Given the description of an element on the screen output the (x, y) to click on. 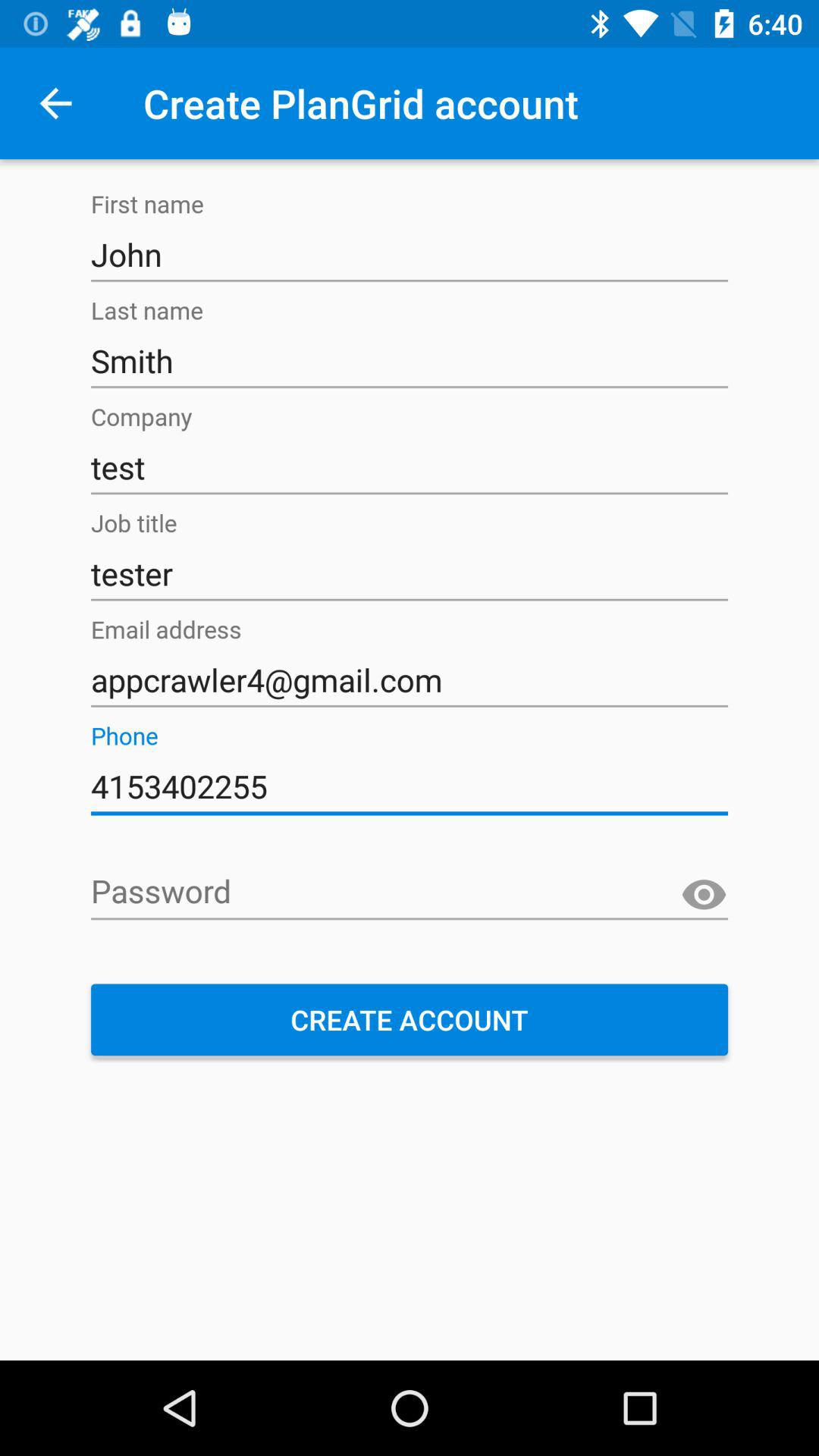
turn on the icon above the john icon (55, 103)
